Given the description of an element on the screen output the (x, y) to click on. 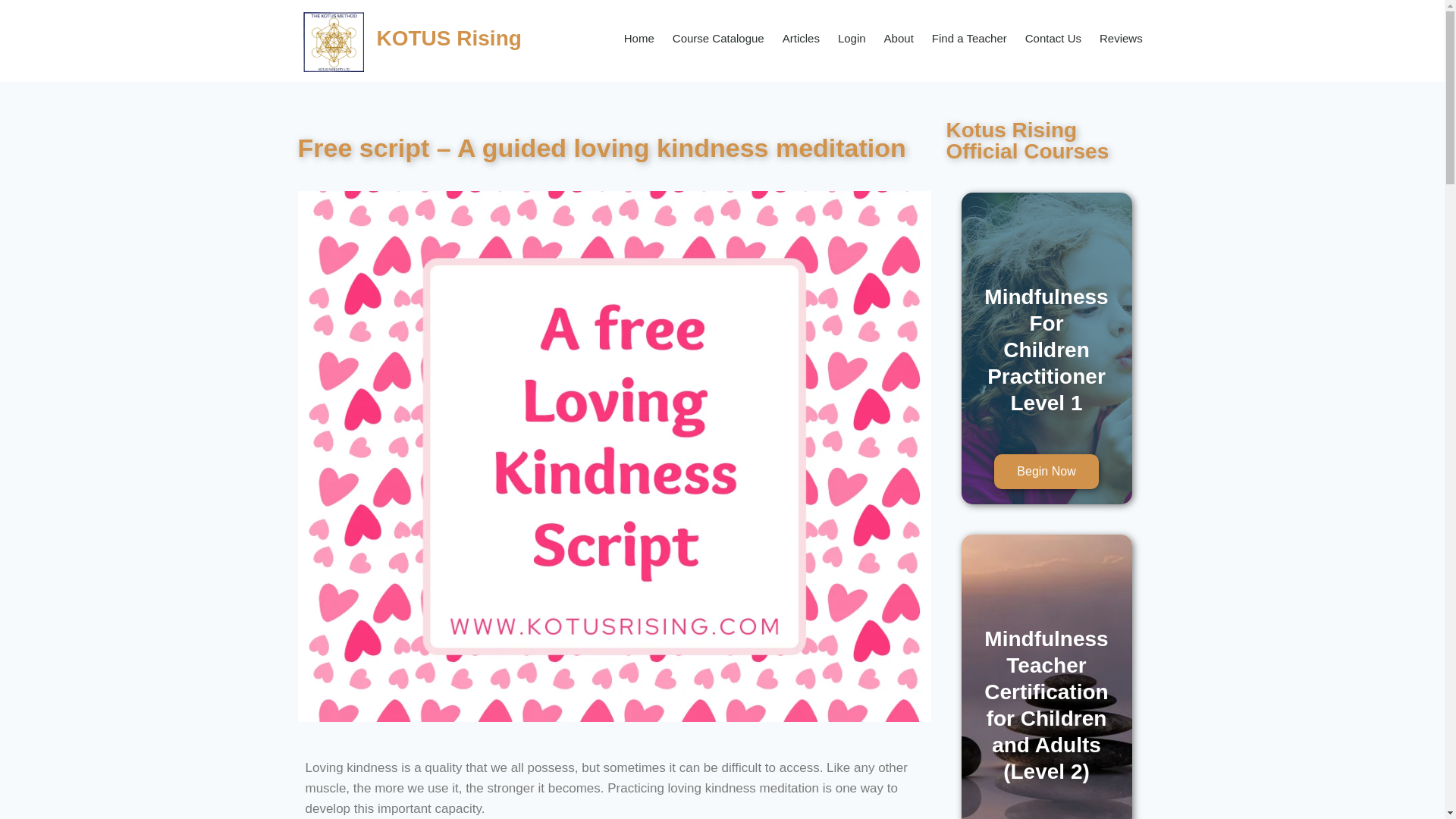
Login (851, 38)
Home (638, 38)
Find a Teacher (969, 38)
Reviews (1120, 38)
Course Catalogue (718, 38)
Articles (800, 38)
Contact Us (1053, 38)
Begin Now (1045, 471)
About (899, 38)
KOTUS Rising (448, 37)
